Given the description of an element on the screen output the (x, y) to click on. 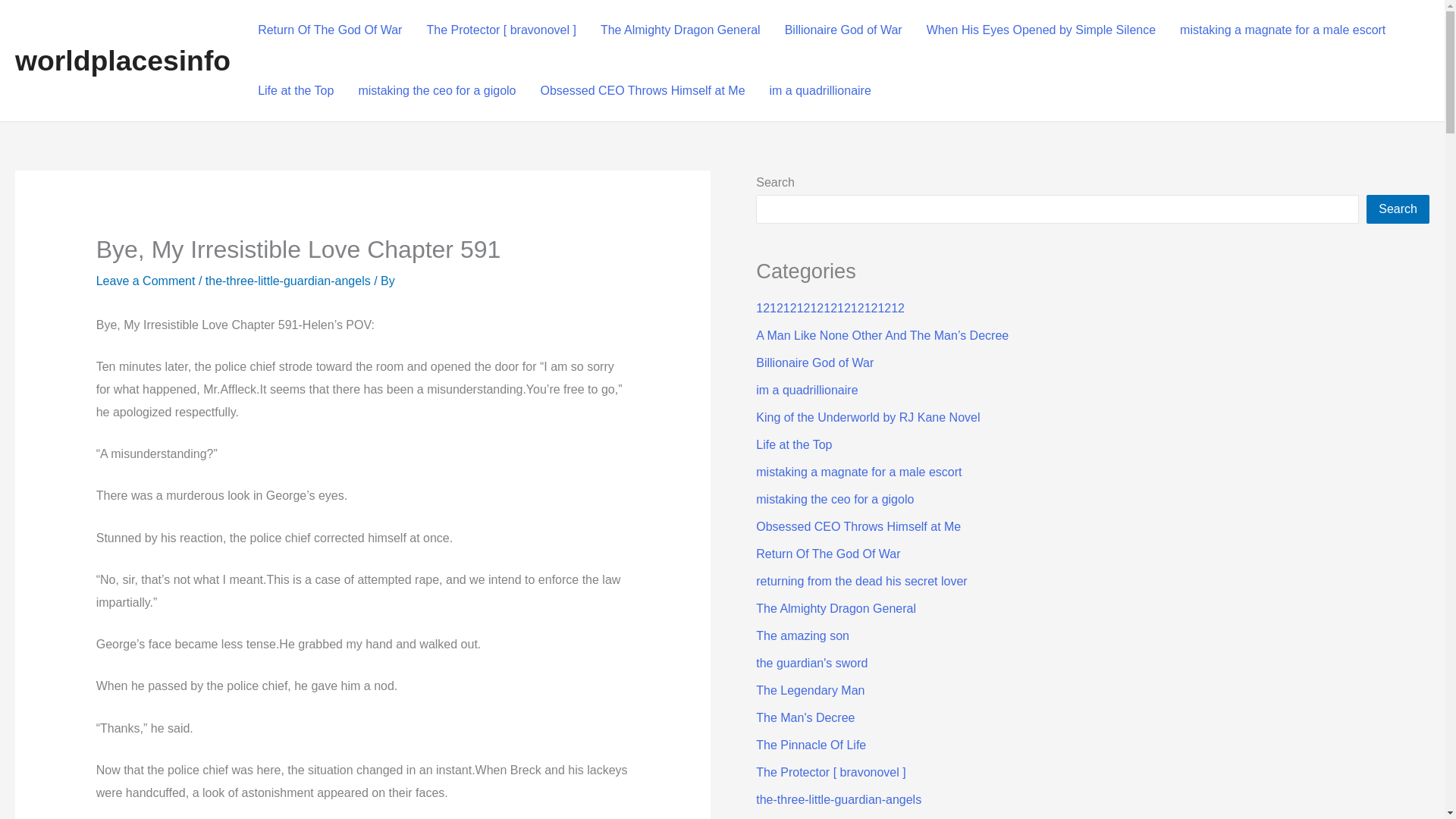
Leave a Comment (145, 280)
im a quadrillionaire (820, 90)
Obsessed CEO Throws Himself at Me (642, 90)
Billionaire God of War (843, 30)
1212121212121212121212 (829, 308)
Billionaire God of War (814, 362)
The Almighty Dragon General (680, 30)
im a quadrillionaire (806, 390)
Search (1398, 208)
mistaking a magnate for a male escort (1282, 30)
